Given the description of an element on the screen output the (x, y) to click on. 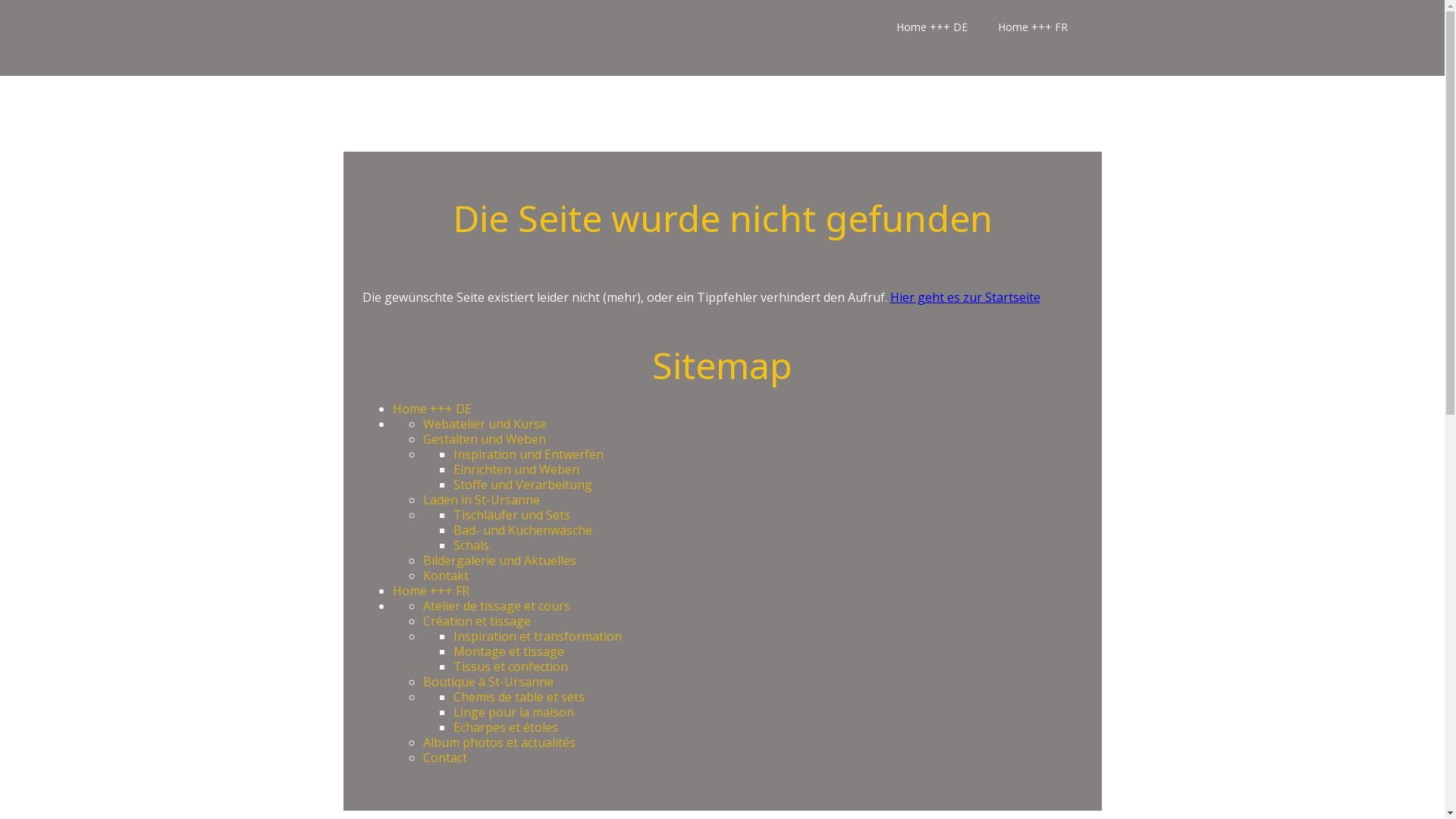
Chemis de table et sets Element type: text (518, 696)
Atelier de tissage et cours Element type: text (496, 605)
Home +++ FR Element type: text (430, 590)
Webatelier und Kurse Element type: text (484, 423)
Tissus et confection Element type: text (510, 666)
Bildergalerie und Aktuelles Element type: text (499, 560)
Schals Element type: text (471, 544)
Gestalten und Weben Element type: text (484, 438)
Laden in St-Ursanne Element type: text (481, 499)
Inspiration et transformation Element type: text (537, 635)
Home +++ FR Element type: text (1031, 27)
Einrichten und Weben Element type: text (516, 469)
Montage et tissage Element type: text (508, 651)
Kontakt Element type: text (445, 575)
Linge pour la maison Element type: text (513, 711)
Inspiration und Entwerfen Element type: text (528, 453)
Stoffe und Verarbeitung Element type: text (522, 484)
Home +++ DE Element type: text (931, 27)
Home +++ DE Element type: text (431, 408)
Hier geht es zur Startseite Element type: text (965, 296)
Contact Element type: text (445, 757)
